Given the description of an element on the screen output the (x, y) to click on. 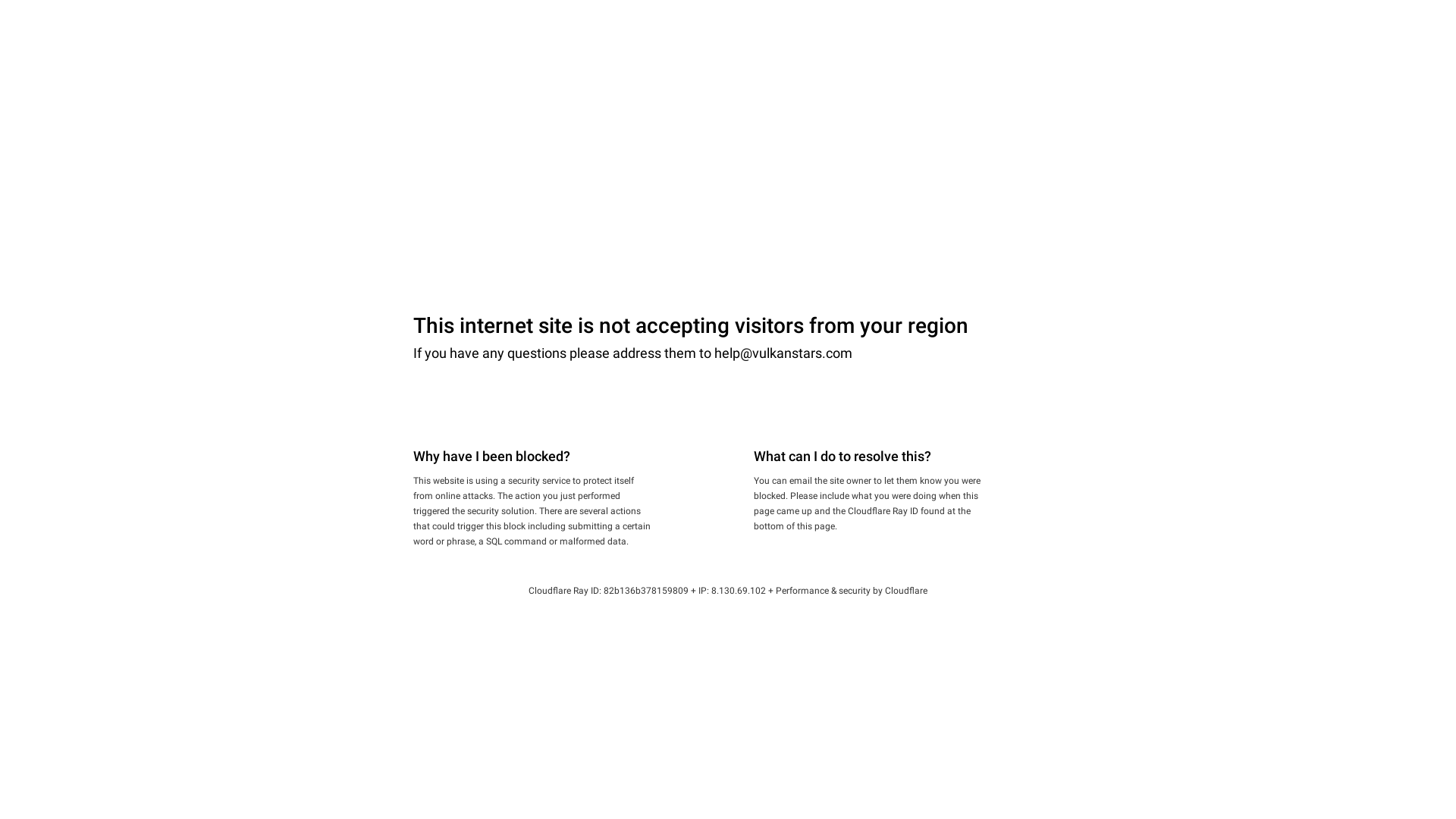
Cloudflare Element type: text (905, 590)
